Given the description of an element on the screen output the (x, y) to click on. 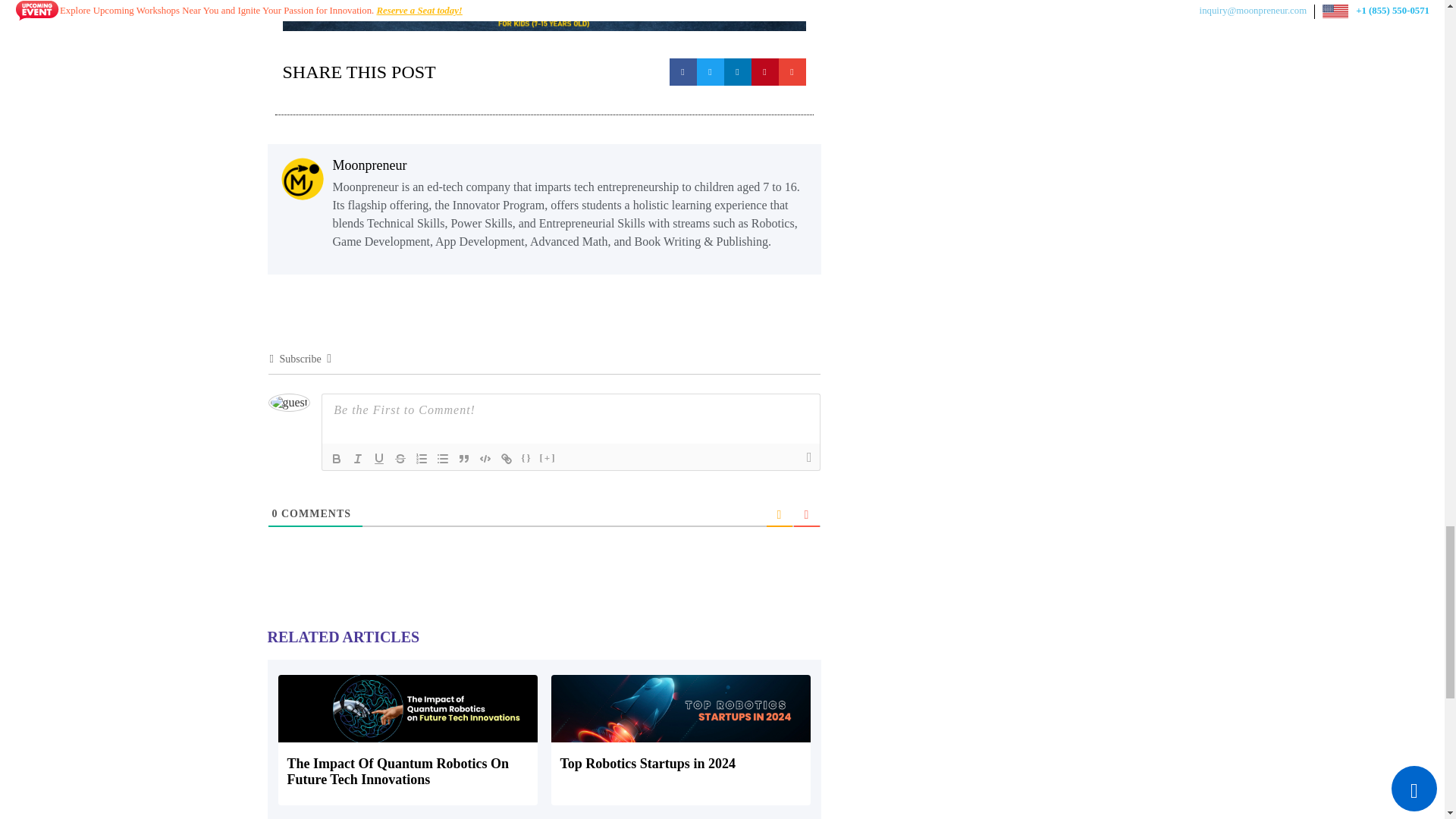
Italic (357, 458)
Blockquote (463, 458)
Link (506, 458)
Source Code (525, 458)
Unordered List (442, 458)
Code Block (485, 458)
Spoiler (547, 458)
Ordered List (421, 458)
Bold (336, 458)
Strike (400, 458)
Underline (379, 458)
